Given the description of an element on the screen output the (x, y) to click on. 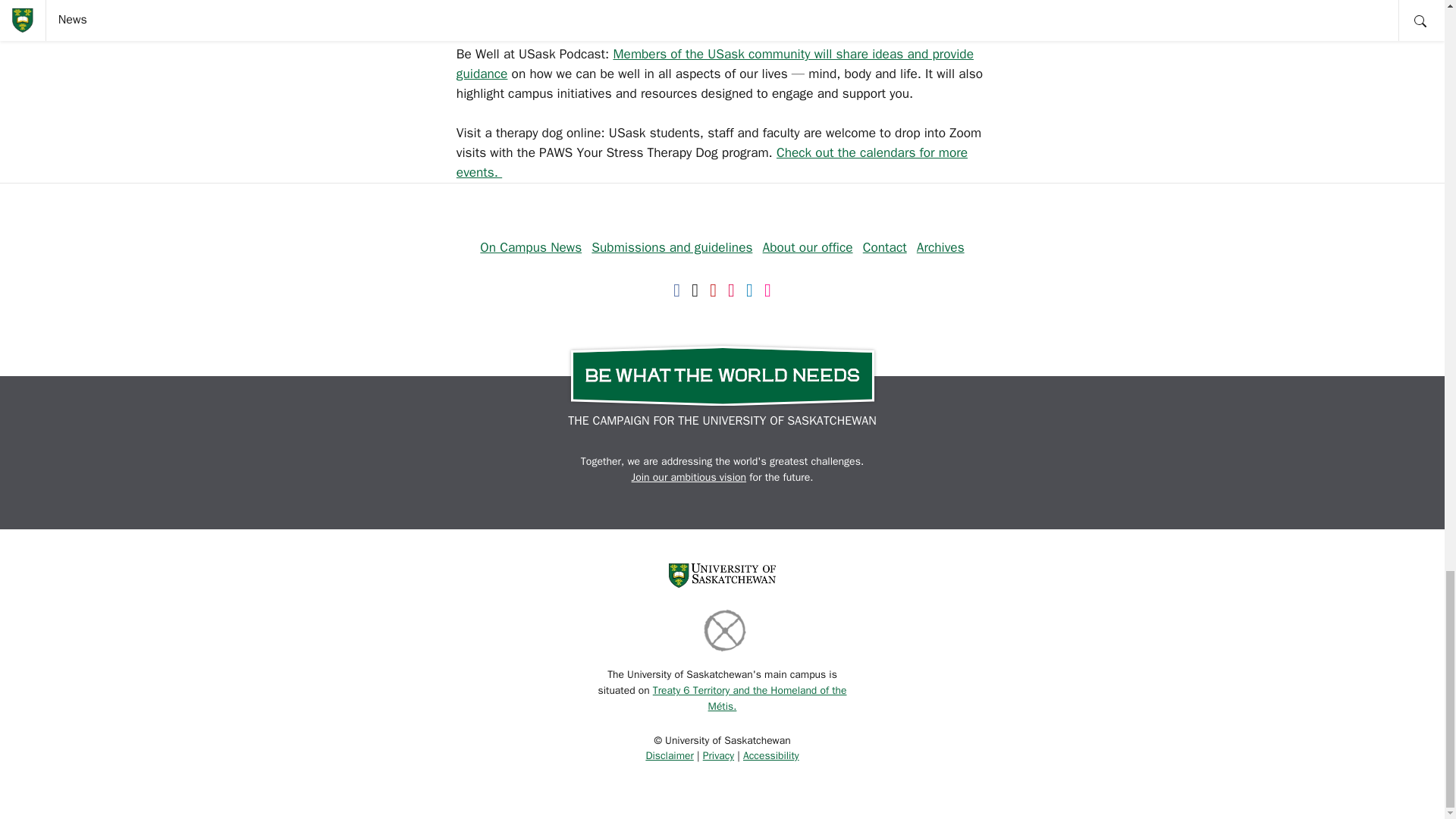
On Campus News (530, 247)
Check out the calendars for more events.  (712, 162)
Archives (940, 247)
Join our ambitious vision (688, 477)
About our office (807, 247)
Submissions and guidelines (671, 247)
Disclaimer (669, 755)
Contact (885, 247)
